Given the description of an element on the screen output the (x, y) to click on. 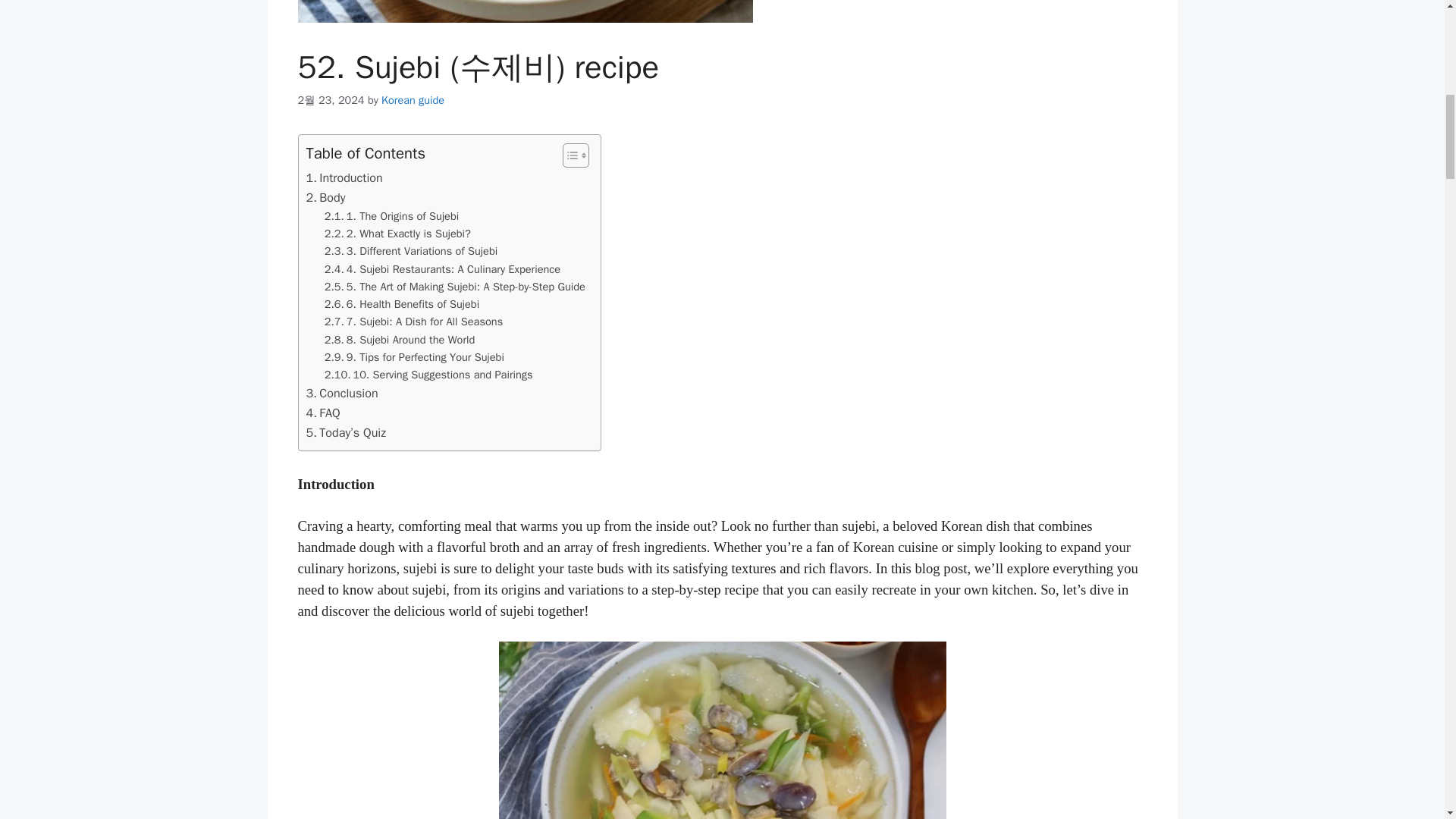
7. Sujebi: A Dish for All Seasons (413, 321)
4. Sujebi Restaurants: A Culinary Experience (442, 269)
9. Tips for Perfecting Your Sujebi (413, 357)
FAQ (322, 413)
1. The Origins of Sujebi (391, 216)
5. The Art of Making Sujebi: A Step-by-Step Guide (454, 286)
7. Sujebi: A Dish for All Seasons (413, 321)
10. Serving Suggestions and Pairings (428, 375)
2. What Exactly is Sujebi? (397, 233)
5. The Art of Making Sujebi: A Step-by-Step Guide (454, 286)
